Given the description of an element on the screen output the (x, y) to click on. 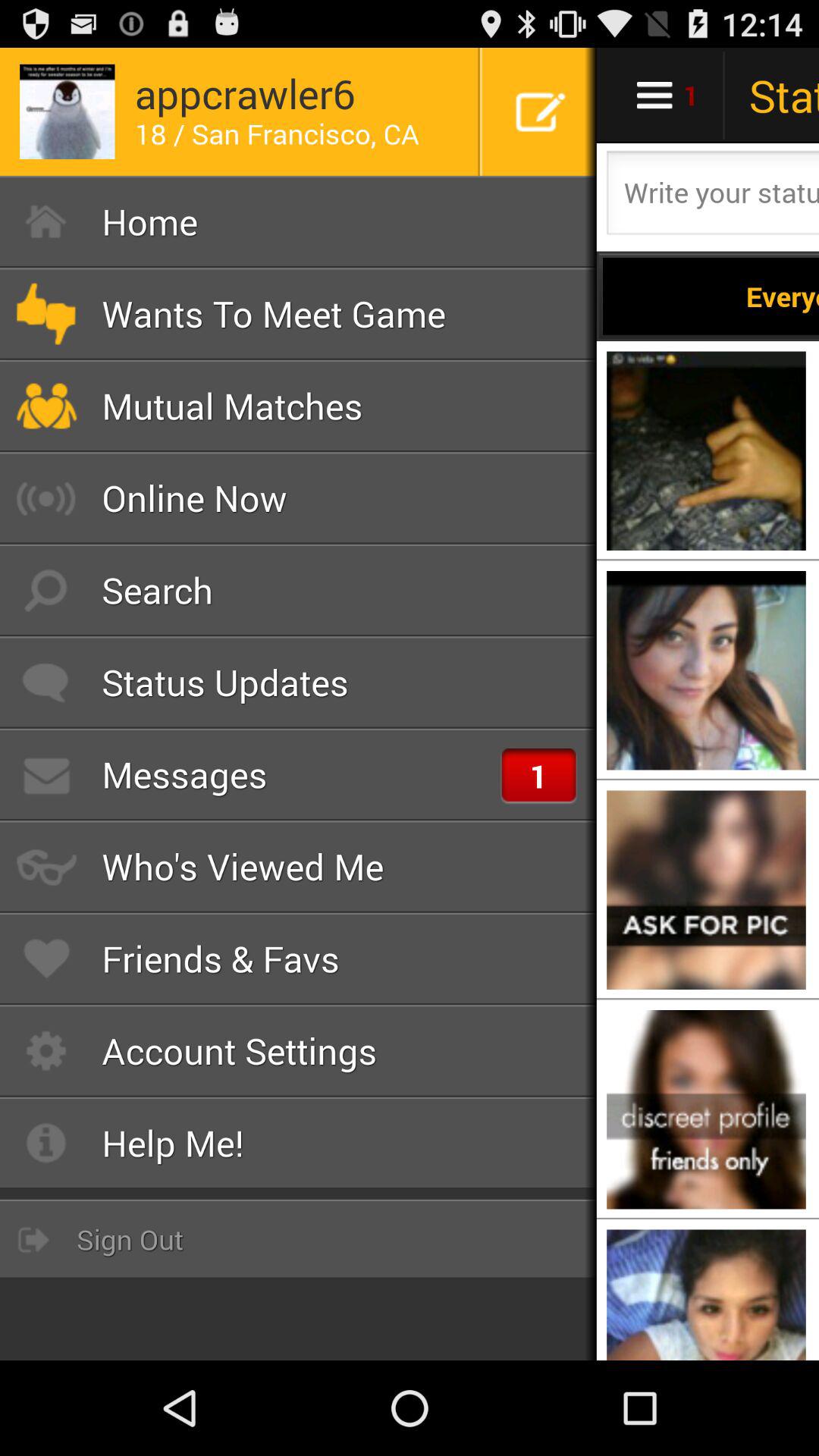
press item below the status updates icon (298, 774)
